Given the description of an element on the screen output the (x, y) to click on. 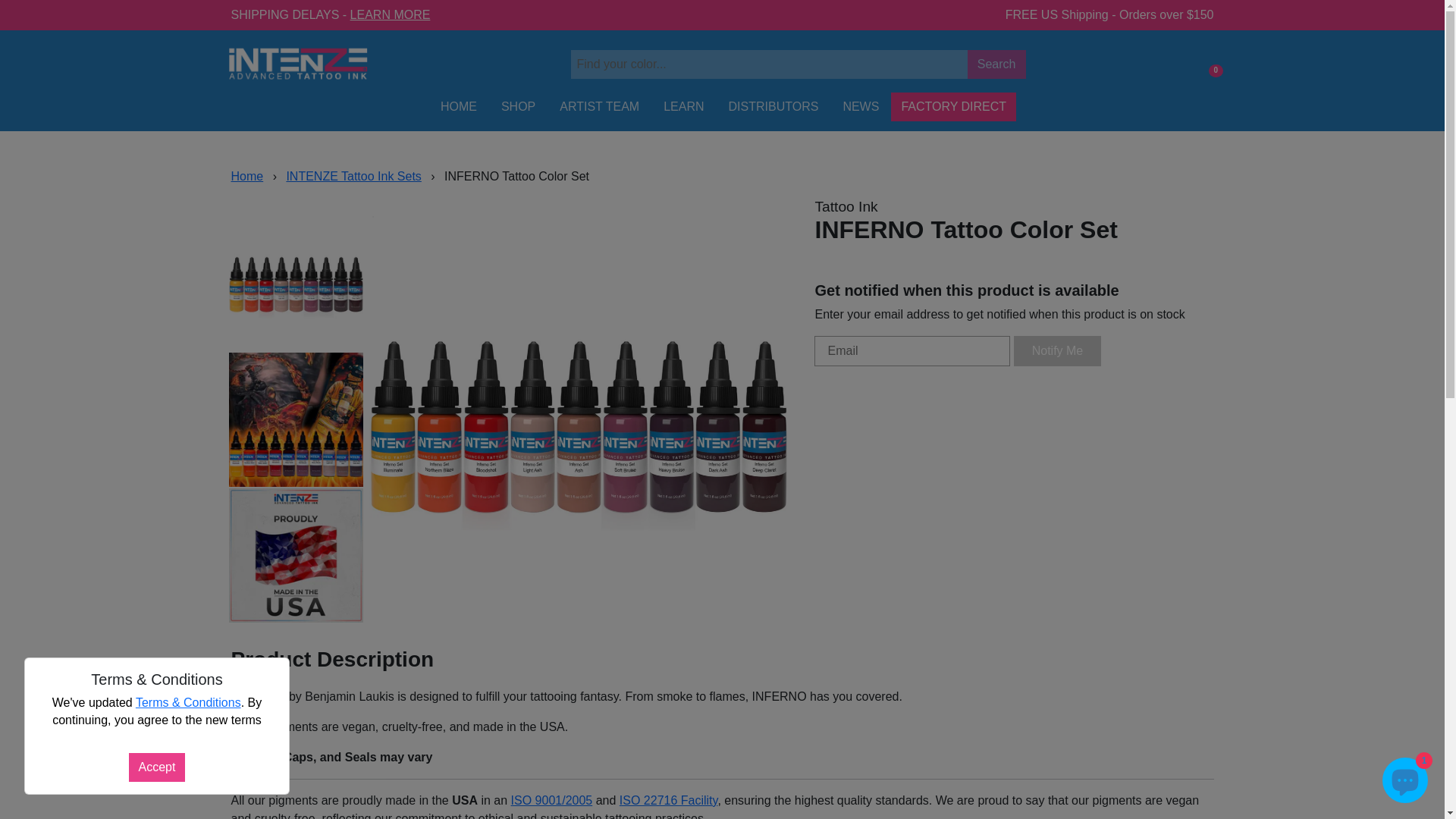
HOME (458, 106)
ARTIST TEAM (598, 106)
Accept (157, 767)
Home (246, 175)
INTENZE Tattoo Ink Sets (352, 175)
NEWS (860, 106)
Search (997, 63)
SHOP (518, 106)
FACTORY DIRECT (953, 106)
Search (997, 63)
LEARN MORE (390, 14)
LEARN (683, 106)
Notify Me (1057, 349)
Shopify online store chat (1404, 781)
DISTRIBUTORS (773, 106)
